Given the description of an element on the screen output the (x, y) to click on. 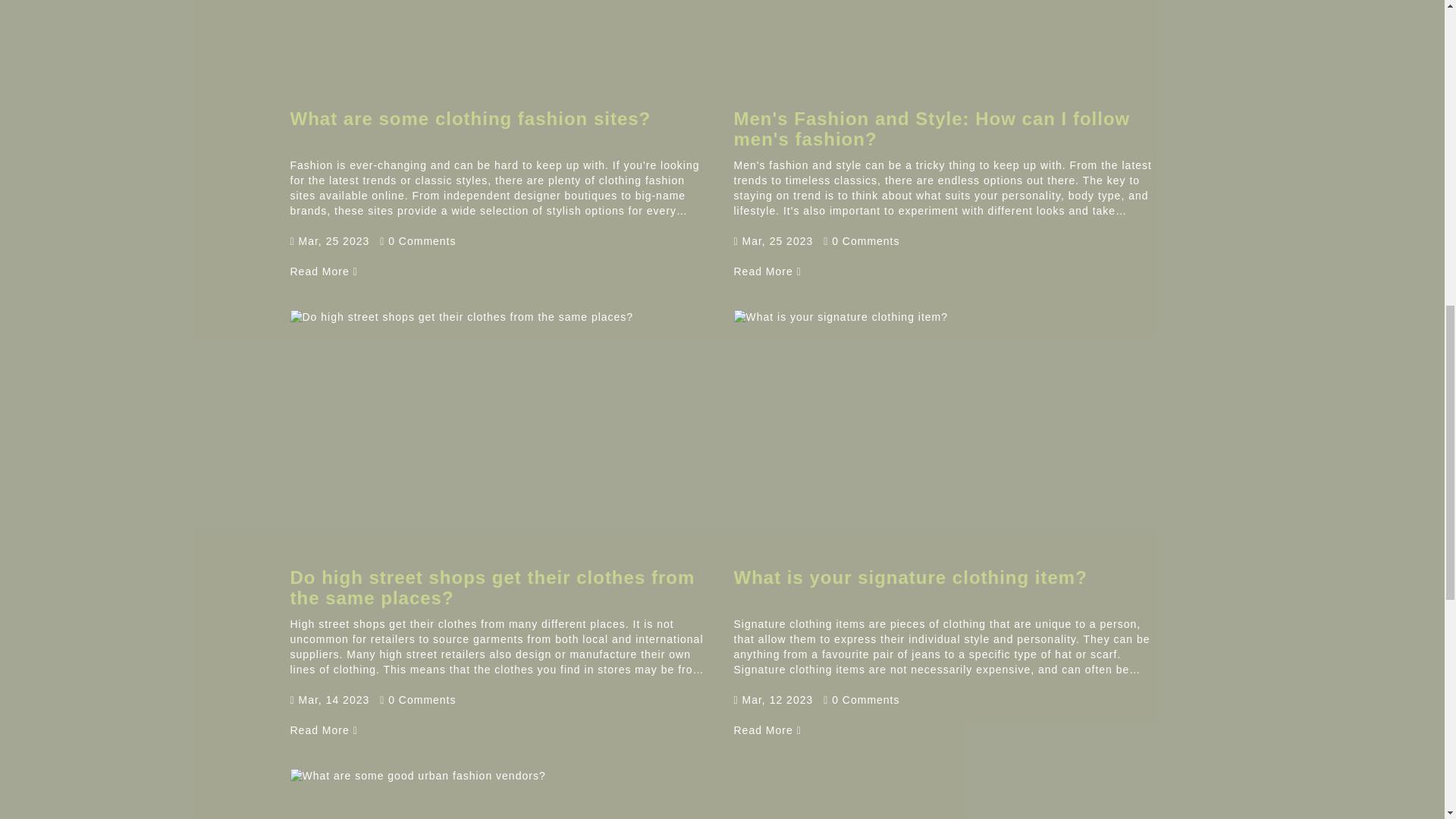
Read More (322, 729)
Men's Fashion and Style: How can I follow men's fashion? (767, 271)
Read More (322, 271)
Read More (767, 729)
What is your signature clothing item? (910, 577)
Men's Fashion and Style: How can I follow men's fashion? (932, 128)
What is your signature clothing item? (767, 729)
Read More (767, 271)
What are some clothing fashion sites? (322, 271)
Do high street shops get their clothes from the same places? (322, 729)
Do high street shops get their clothes from the same places? (491, 587)
What are some clothing fashion sites? (469, 118)
